Given the description of an element on the screen output the (x, y) to click on. 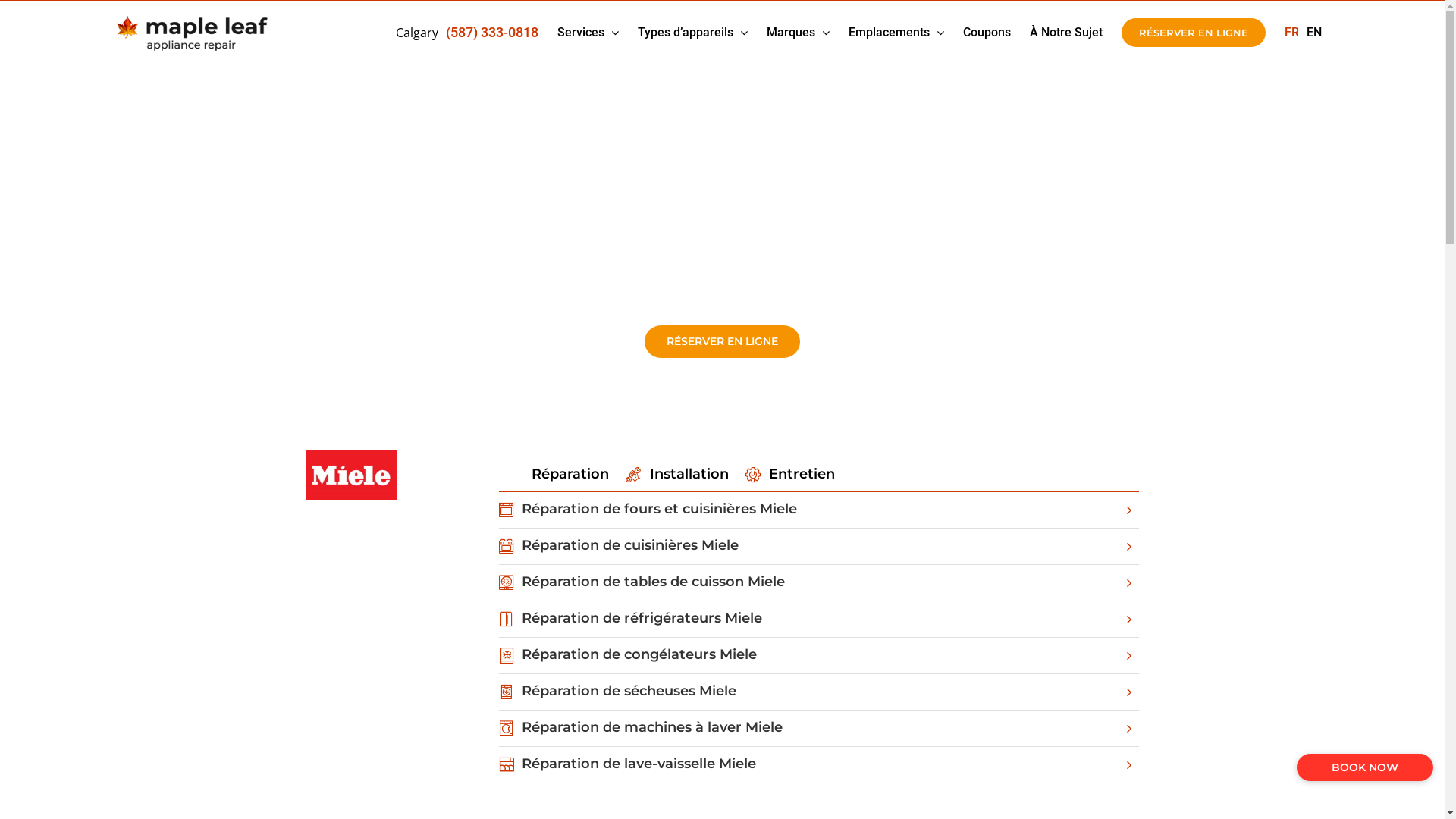
(587) 333-0818 Element type: text (491, 32)
Emplacements Element type: text (895, 32)
miele-appliances-repair-services Element type: hover (349, 475)
Marques Element type: text (796, 32)
FR Element type: text (1291, 32)
Coupons Element type: text (986, 32)
EN Element type: text (1313, 32)
Services Element type: text (587, 32)
